Given the description of an element on the screen output the (x, y) to click on. 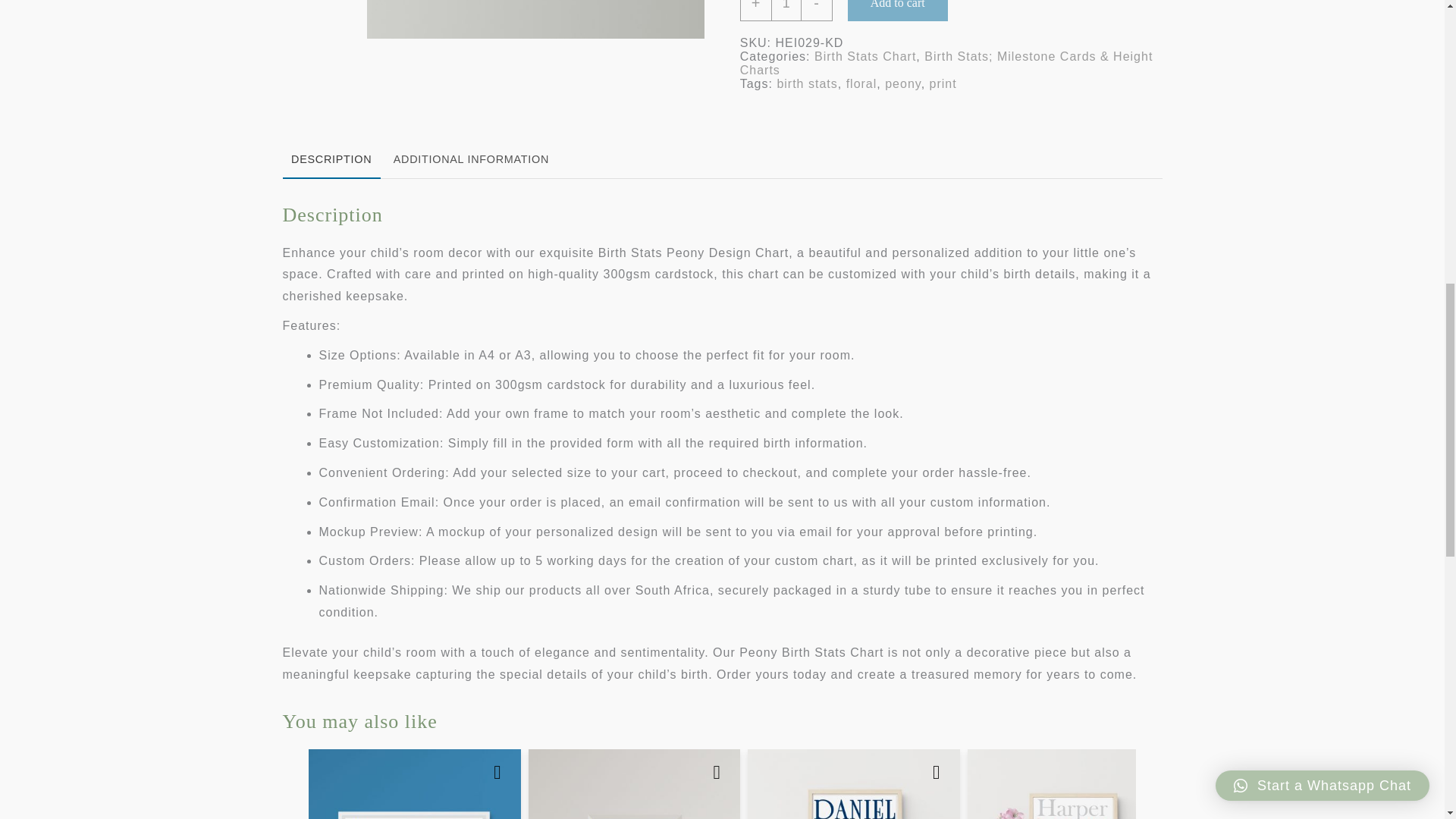
1 (786, 10)
Peony Birth Stats (544, 19)
